Given the description of an element on the screen output the (x, y) to click on. 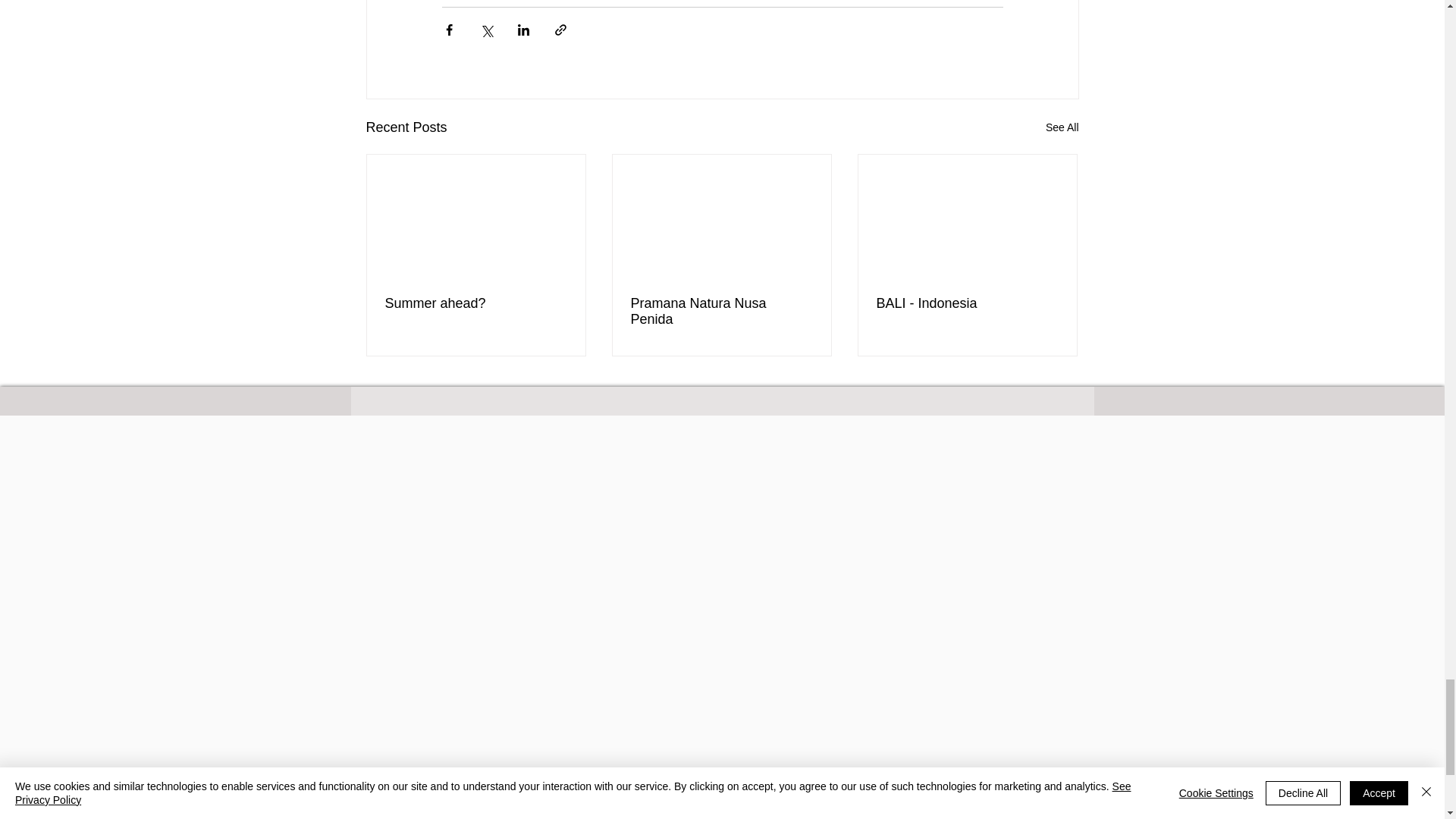
BALI - Indonesia (967, 303)
Pramana Natura Nusa Penida (721, 311)
Summer ahead? (476, 303)
See All (1061, 127)
